Given the description of an element on the screen output the (x, y) to click on. 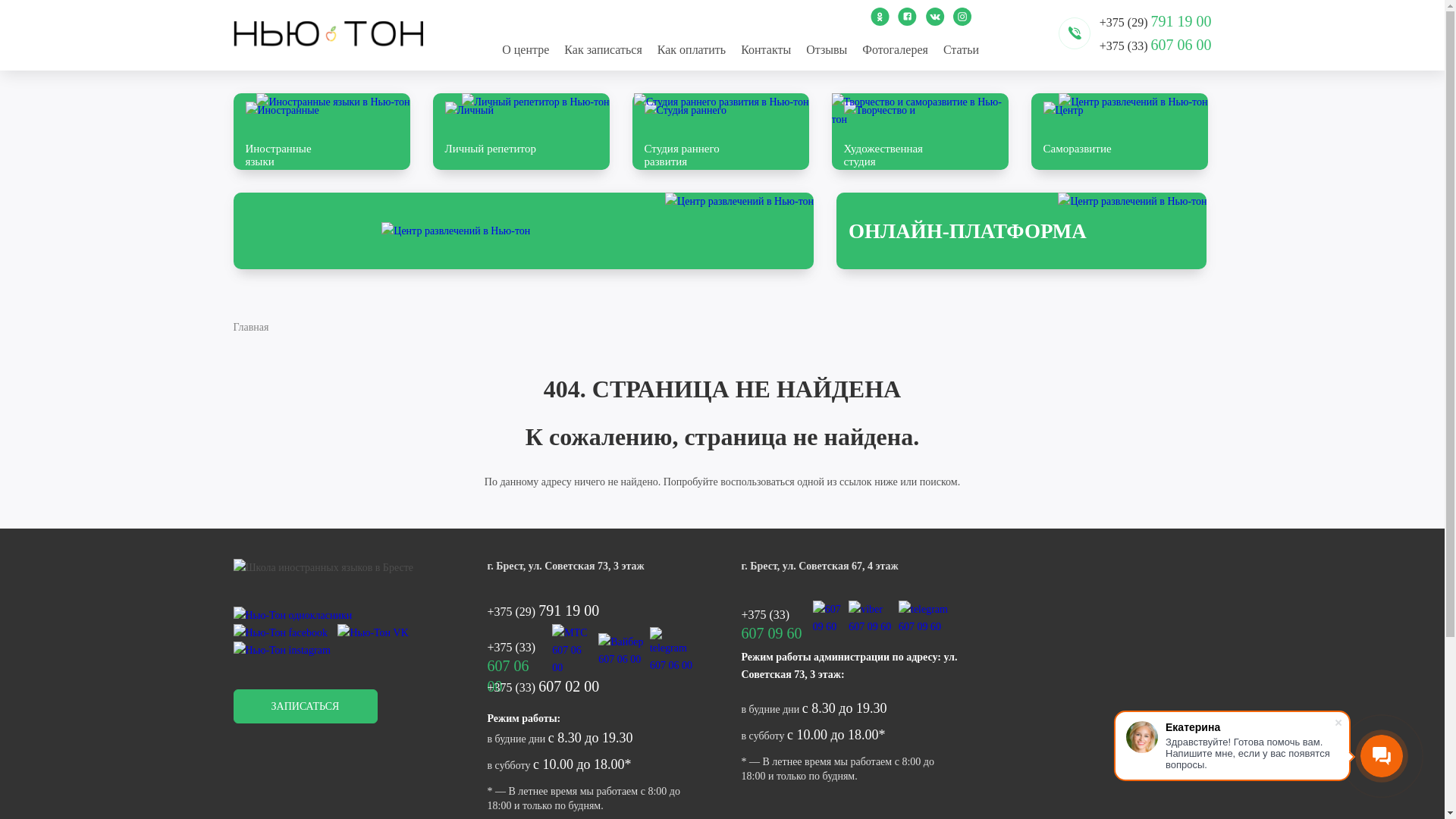
+375 (29) 791 19 00 Element type: text (1155, 20)
+375 (29) 791 19 00 Element type: text (594, 610)
+375 (33) 607 02 00 Element type: text (594, 686)
+375 (33) 607 06 00 Element type: text (1155, 44)
+375 (33) 607 09 60 Element type: text (774, 617)
+375 (33) 607 06 00 Element type: text (516, 649)
